Given the description of an element on the screen output the (x, y) to click on. 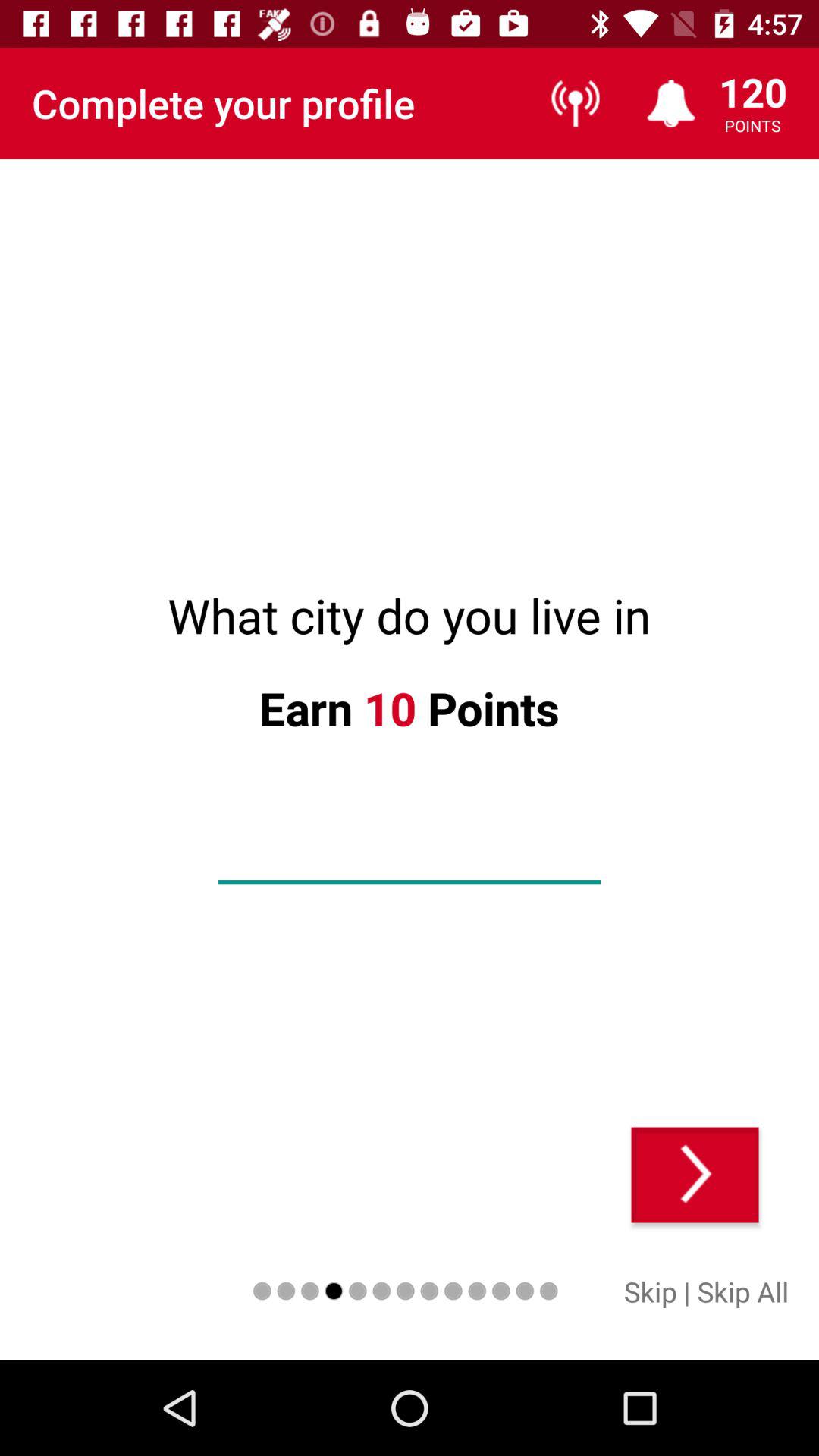
next (694, 1174)
